Given the description of an element on the screen output the (x, y) to click on. 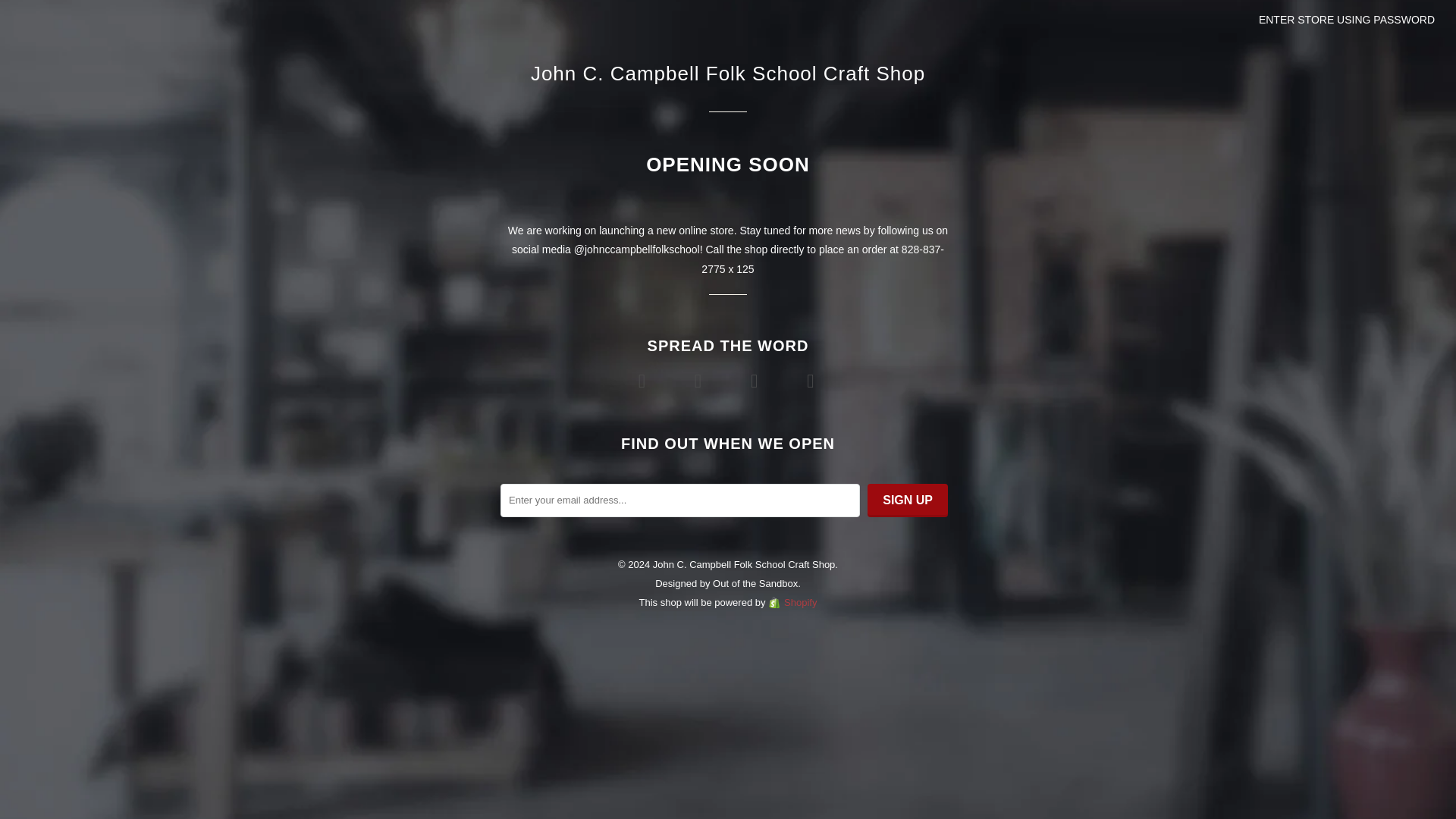
John C. Campbell Folk School Craft Shop on YouTube (699, 379)
Sign Up (907, 500)
Retina Shopify Theme by Out of the Sandbox (755, 583)
John C. Campbell Folk School Craft Shop on Facebook (643, 379)
John C. Campbell Folk School Craft Shop on Pinterest (755, 379)
John C. Campbell Folk School Craft Shop on Instagram (812, 379)
Shopify (792, 602)
ENTER STORE USING PASSWORD (1346, 19)
Enter (727, 422)
Out of the Sandbox (755, 583)
